Given the description of an element on the screen output the (x, y) to click on. 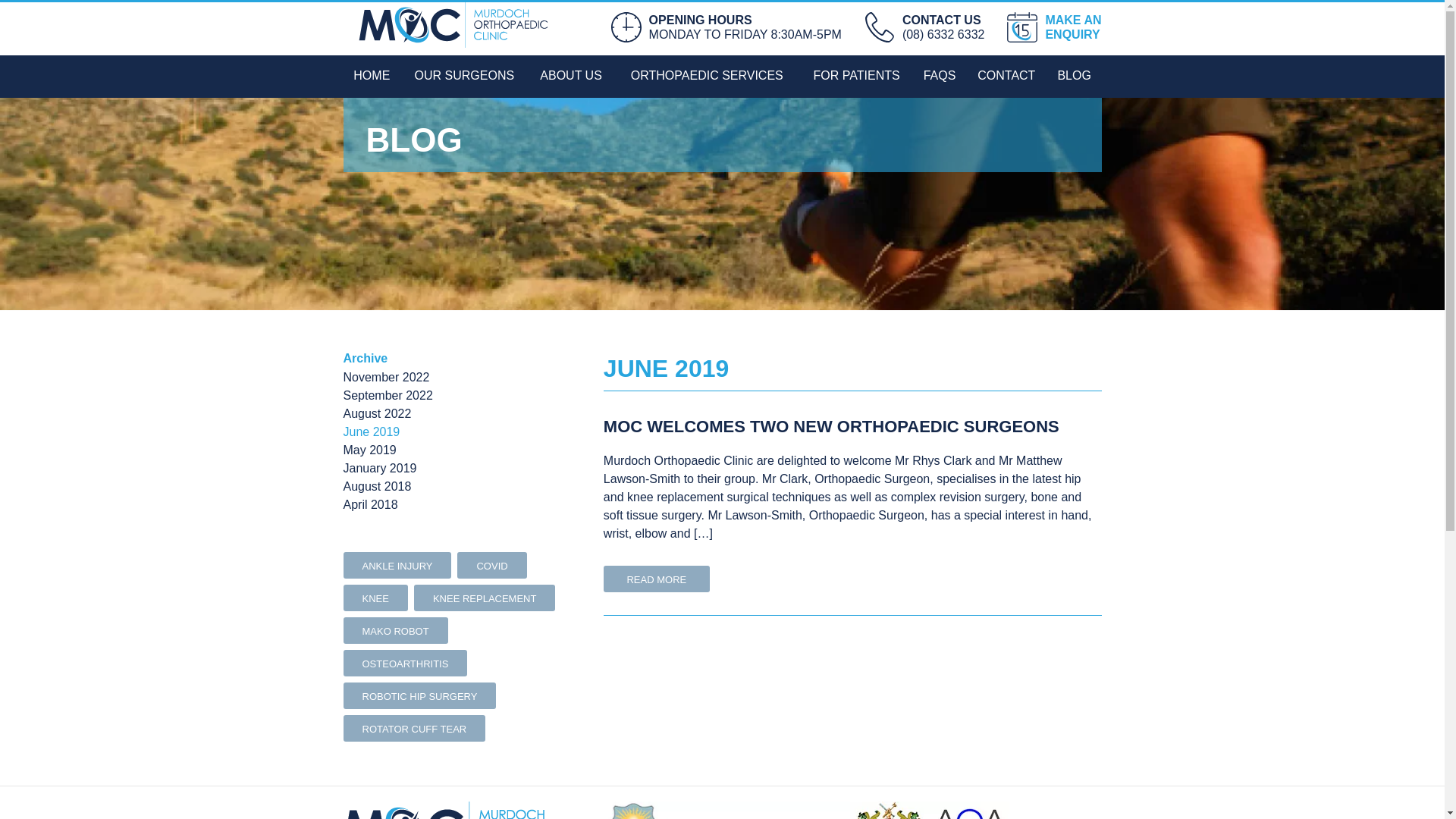
OUR SURGEONS Element type: text (464, 76)
ABOUT US Element type: text (571, 76)
BLOG Element type: text (1074, 76)
ORTHOPAEDIC SERVICES Element type: text (706, 76)
May 2019 Element type: text (368, 449)
KNEE Element type: text (374, 597)
FAQS Element type: text (939, 76)
ANKLE INJURY Element type: text (396, 565)
MAKE AN
ENQUIRY Element type: text (1054, 26)
COVID Element type: text (491, 565)
August 2022 Element type: text (376, 413)
September 2022 Element type: text (387, 395)
April 2018 Element type: text (369, 504)
January 2019 Element type: text (379, 467)
ROTATOR CUFF TEAR Element type: text (413, 728)
FOR PATIENTS Element type: text (856, 76)
August 2018 Element type: text (376, 486)
HOME Element type: text (371, 76)
CONTACT US
(08) 6332 6332 Element type: text (924, 26)
CONTACT Element type: text (1006, 76)
MAKO ROBOT Element type: text (394, 630)
KNEE REPLACEMENT Element type: text (484, 597)
READ MORE Element type: text (656, 578)
November 2022 Element type: text (385, 376)
ROBOTIC HIP SURGERY Element type: text (418, 695)
June 2019 Element type: text (370, 431)
OSTEOARTHRITIS Element type: text (404, 662)
